Given the description of an element on the screen output the (x, y) to click on. 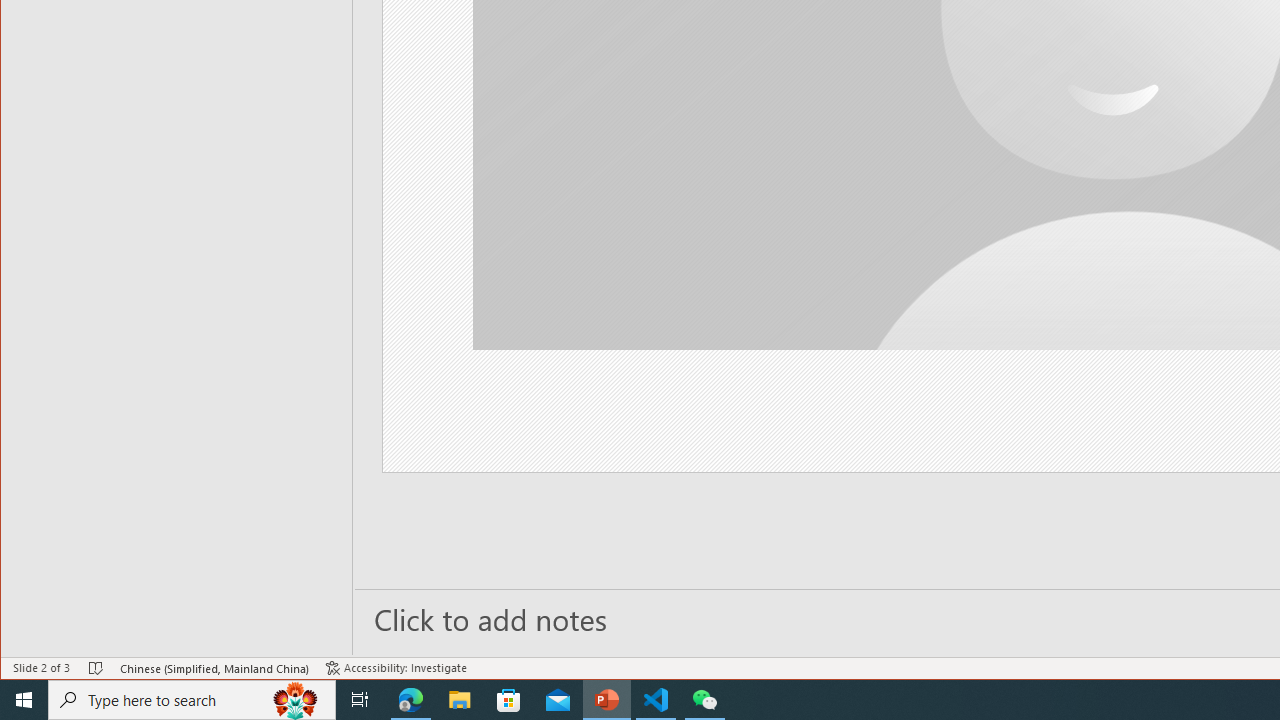
File Explorer (460, 699)
Spell Check No Errors (96, 668)
Accessibility Checker Accessibility: Investigate (395, 668)
Start (24, 699)
Microsoft Edge - 1 running window (411, 699)
Search highlights icon opens search home window (295, 699)
Task View (359, 699)
Microsoft Store (509, 699)
WeChat - 1 running window (704, 699)
Type here to search (191, 699)
Visual Studio Code - 1 running window (656, 699)
PowerPoint - 1 running window (607, 699)
